Given the description of an element on the screen output the (x, y) to click on. 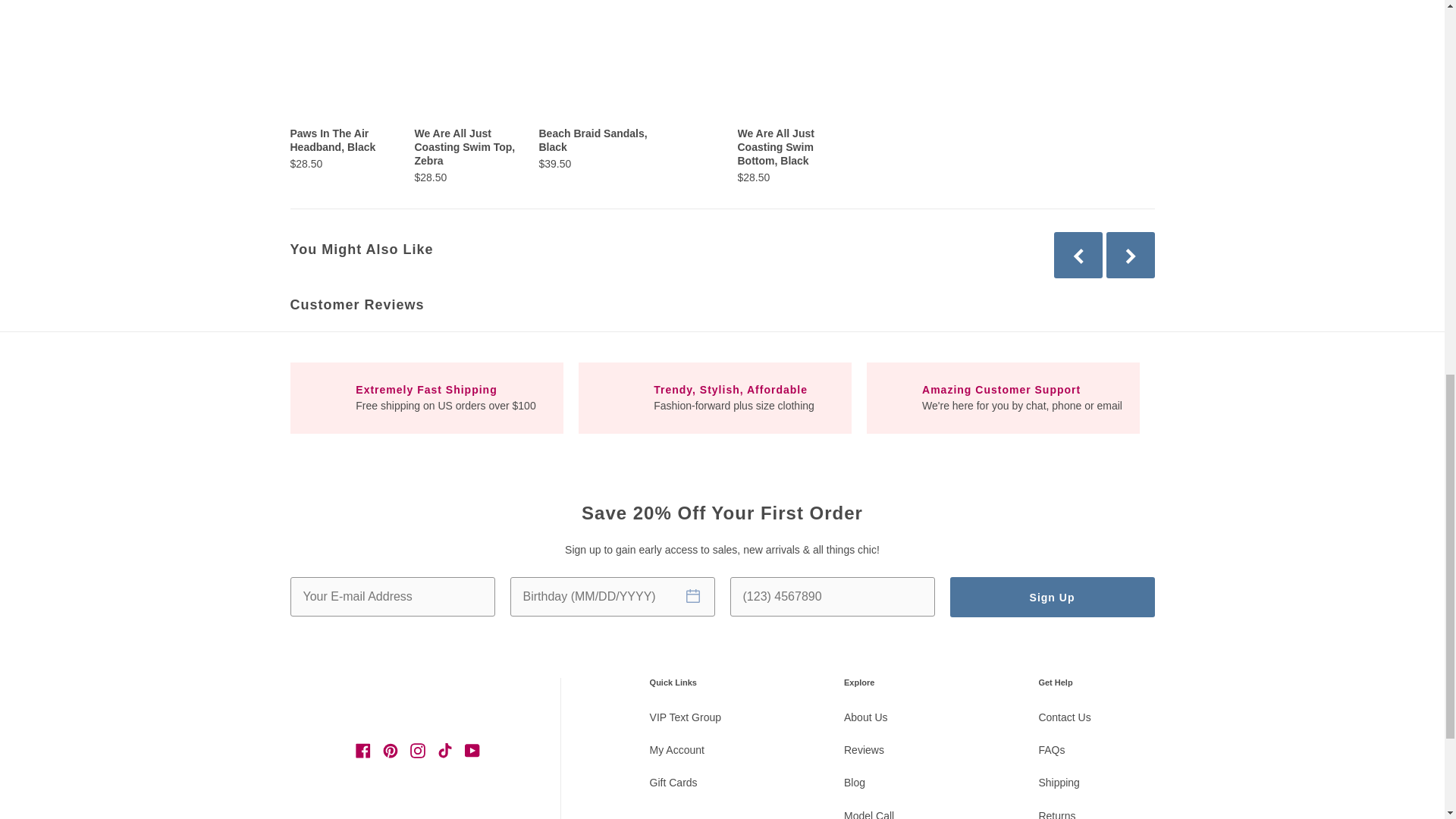
Chic Soul on Pinterest (390, 749)
Chic Soul on YouTube (472, 749)
Chic Soul on Instagram (417, 749)
Sign Up (1051, 597)
Chic Soul on Facebook (363, 749)
Chic Soul on TikTok (444, 749)
